Given the description of an element on the screen output the (x, y) to click on. 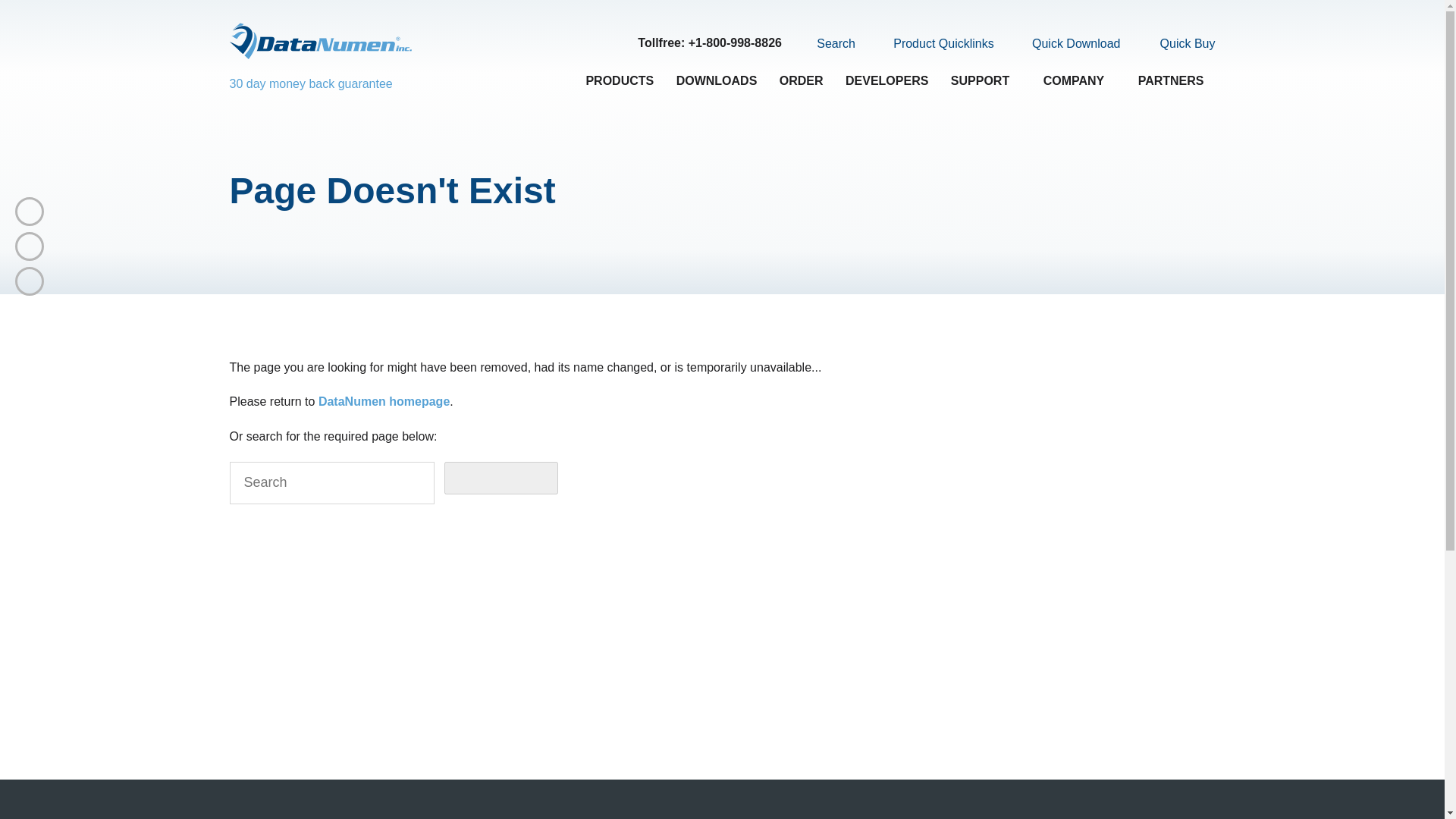
Quick Download (1066, 44)
Search (827, 43)
Search for: (330, 482)
Product Quicklinks (934, 44)
